Given the description of an element on the screen output the (x, y) to click on. 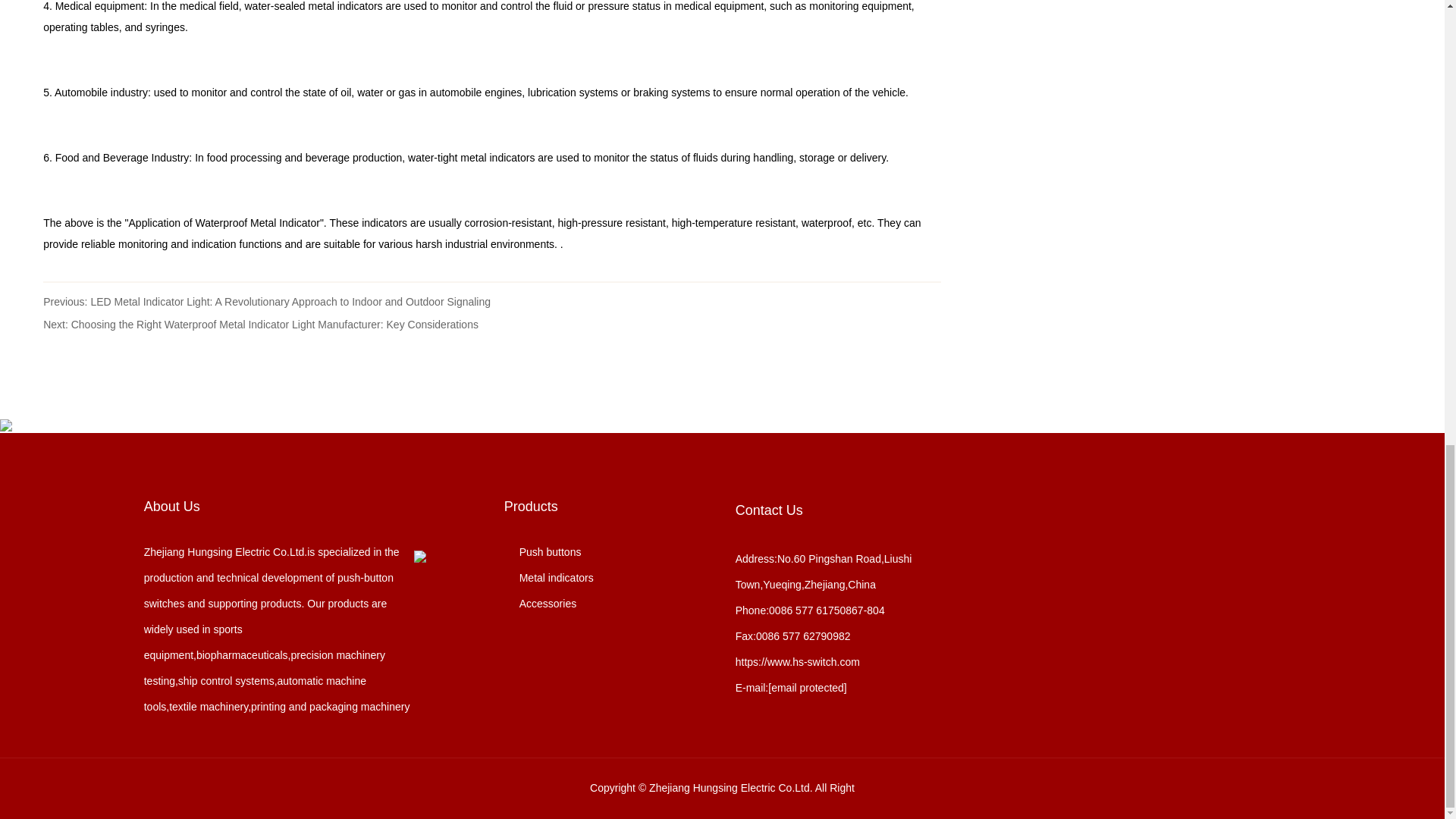
Push buttons (541, 551)
Accessories (539, 603)
Metal indicators (548, 577)
